Given the description of an element on the screen output the (x, y) to click on. 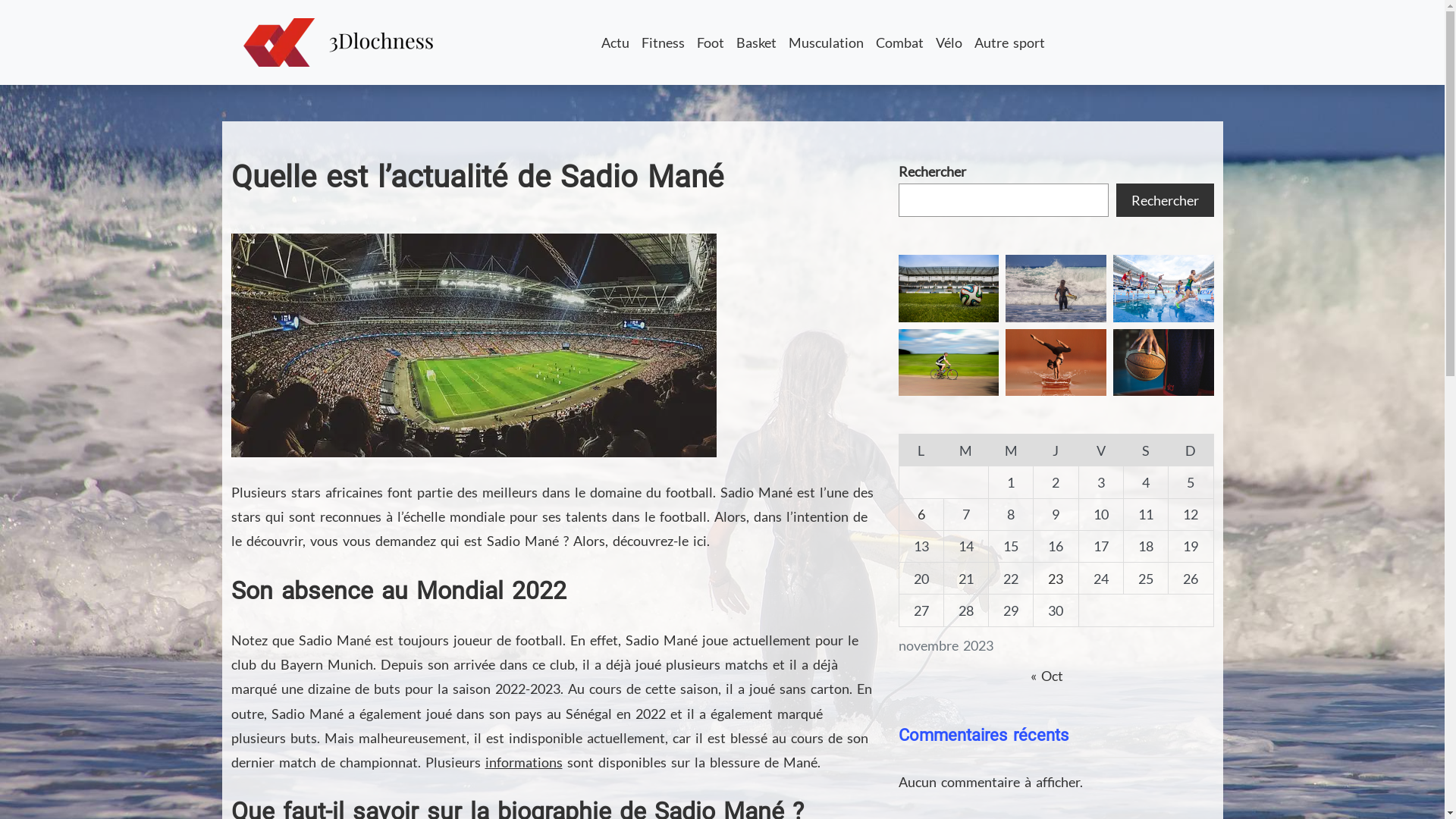
Foot Element type: text (710, 42)
Actu Element type: text (615, 42)
Rechercher Element type: text (1165, 199)
Musculation Element type: text (825, 42)
Combat Element type: text (899, 42)
23 Element type: text (1055, 578)
Basket Element type: text (756, 42)
Autre sport Element type: text (1009, 42)
6 Element type: text (921, 513)
informations Element type: text (523, 761)
Fitness Element type: text (662, 42)
